Given the description of an element on the screen output the (x, y) to click on. 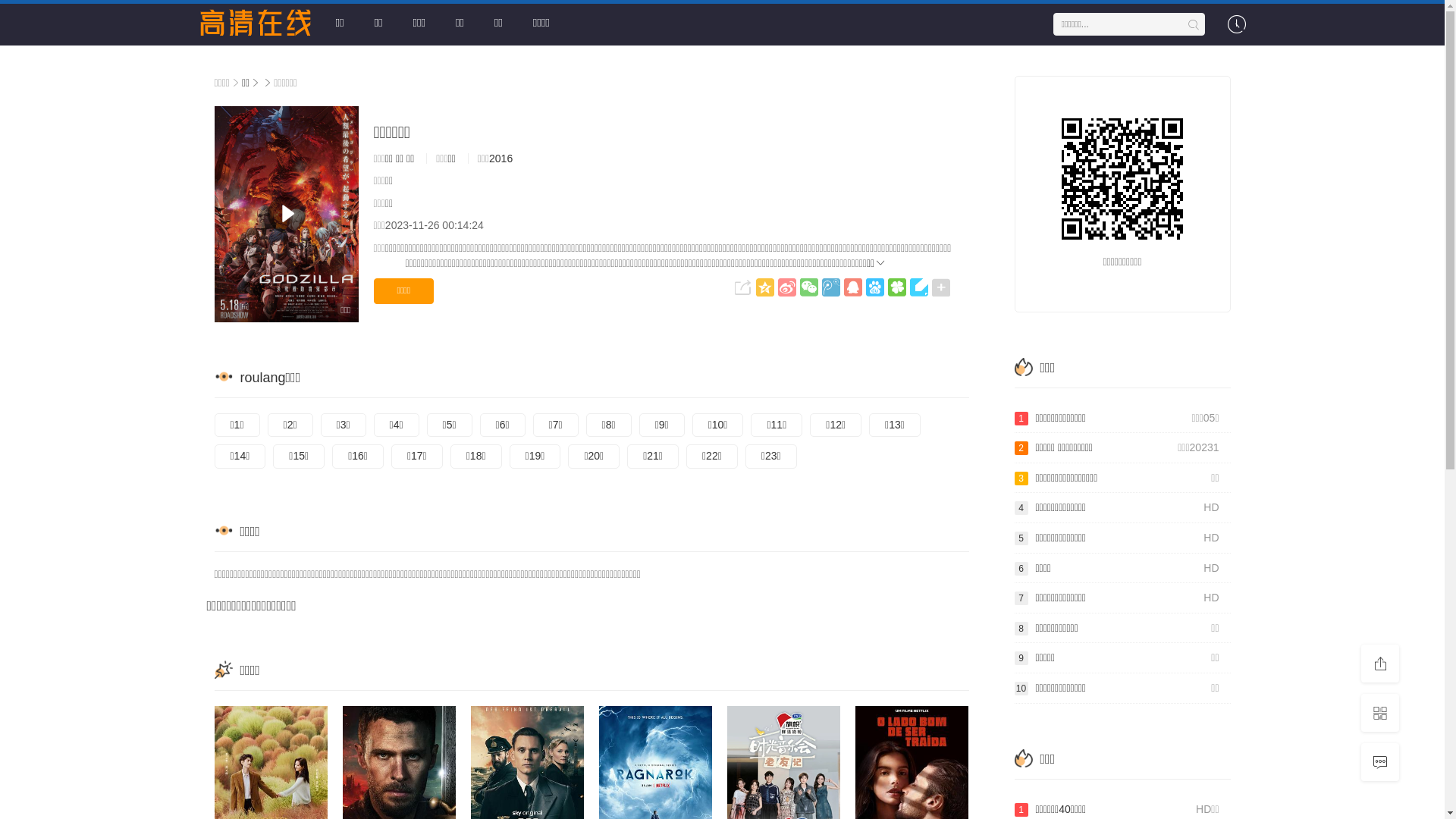
http://www.28zy.com/a/liuxingfaxing/mingxingfaxing/ Element type: hover (1121, 178)
2016 Element type: text (500, 158)
